Given the description of an element on the screen output the (x, y) to click on. 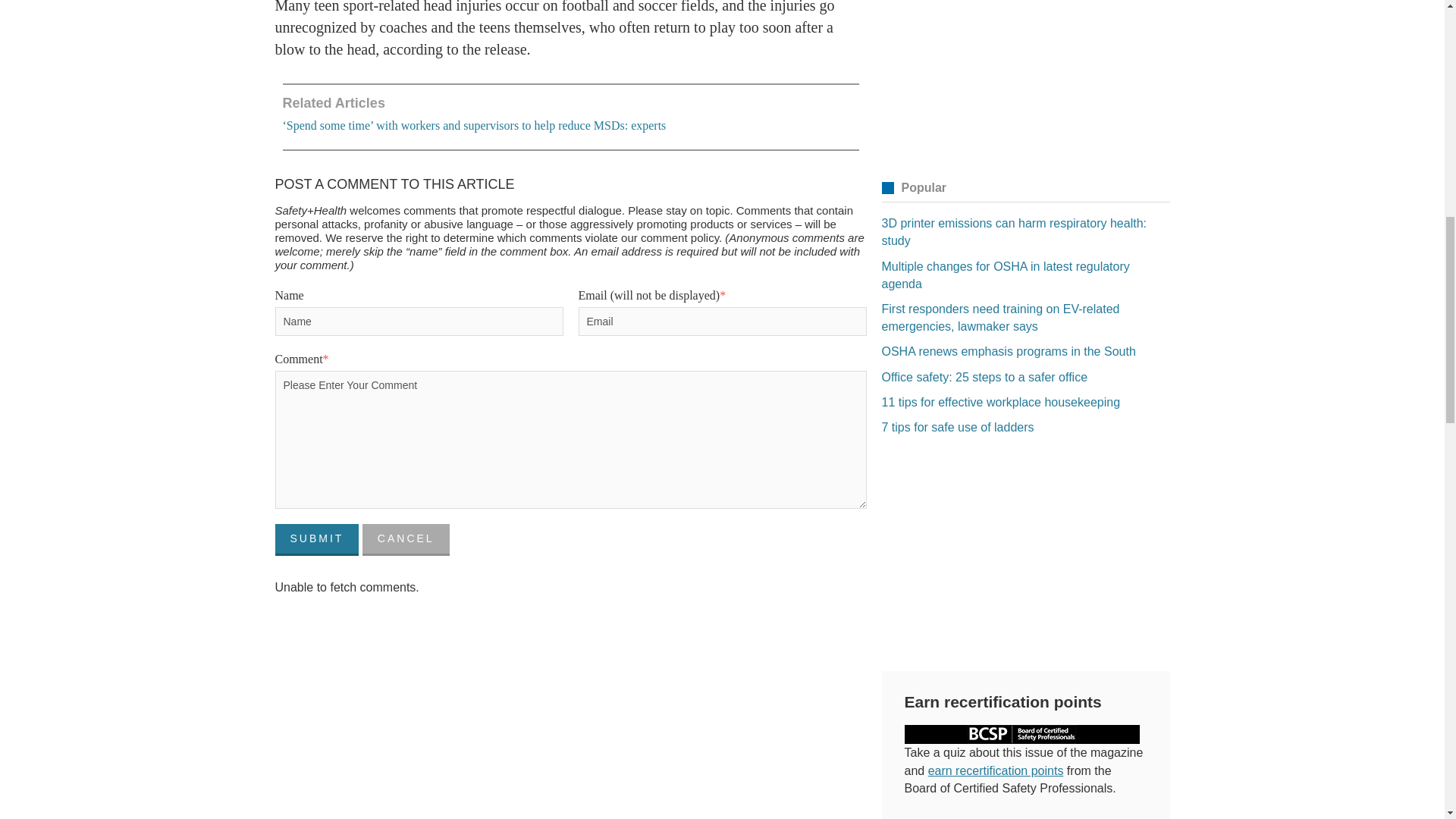
Cancel (405, 540)
Submit (316, 540)
Email (722, 321)
Name (418, 321)
